Given the description of an element on the screen output the (x, y) to click on. 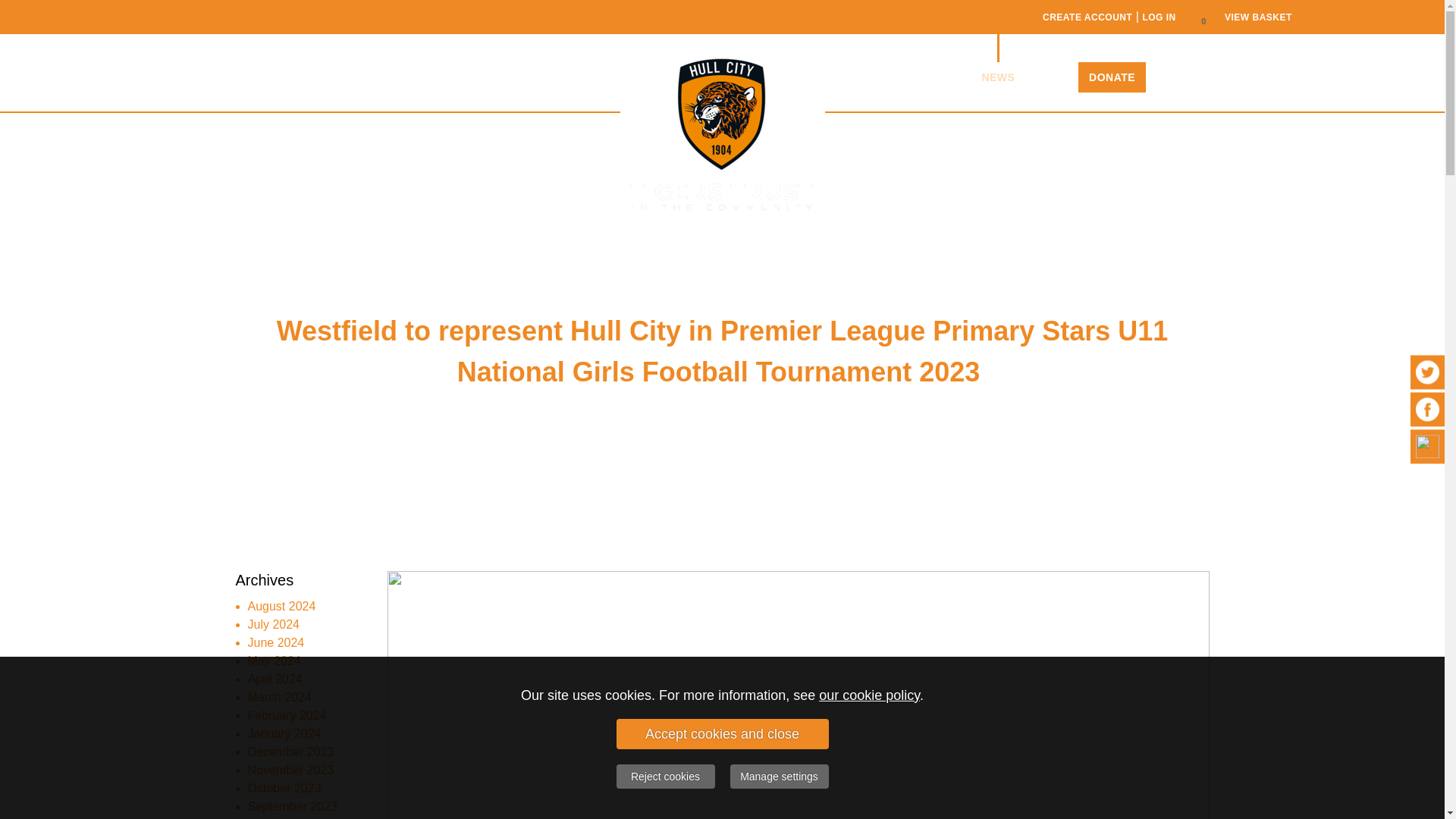
CREATE ACCOUNT (1087, 17)
GALLERY (583, 77)
VIEW BASKET (1258, 17)
LOG IN (1157, 17)
HOME (267, 77)
0 (1202, 16)
